Given the description of an element on the screen output the (x, y) to click on. 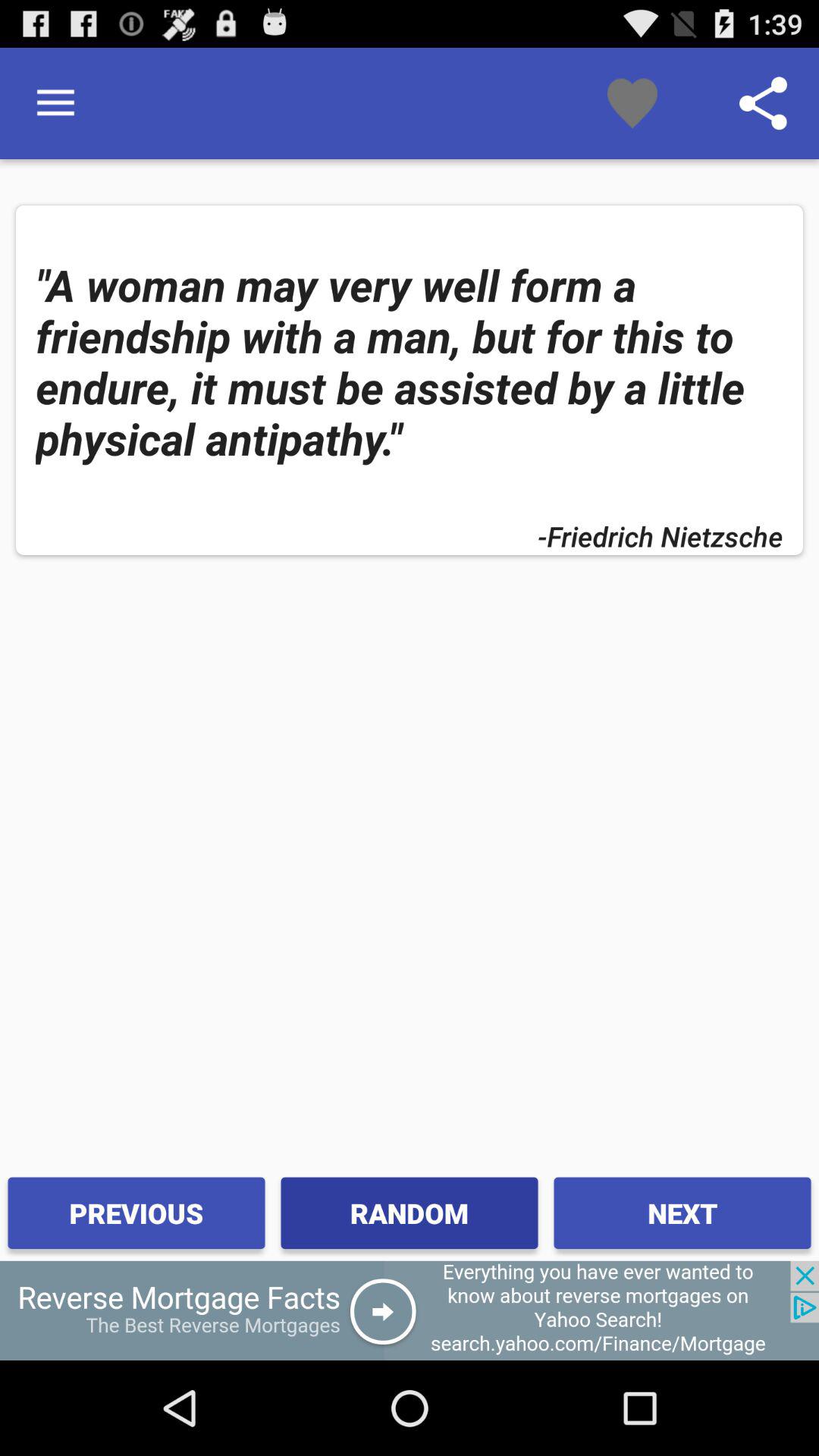
advertisement (409, 1310)
